Given the description of an element on the screen output the (x, y) to click on. 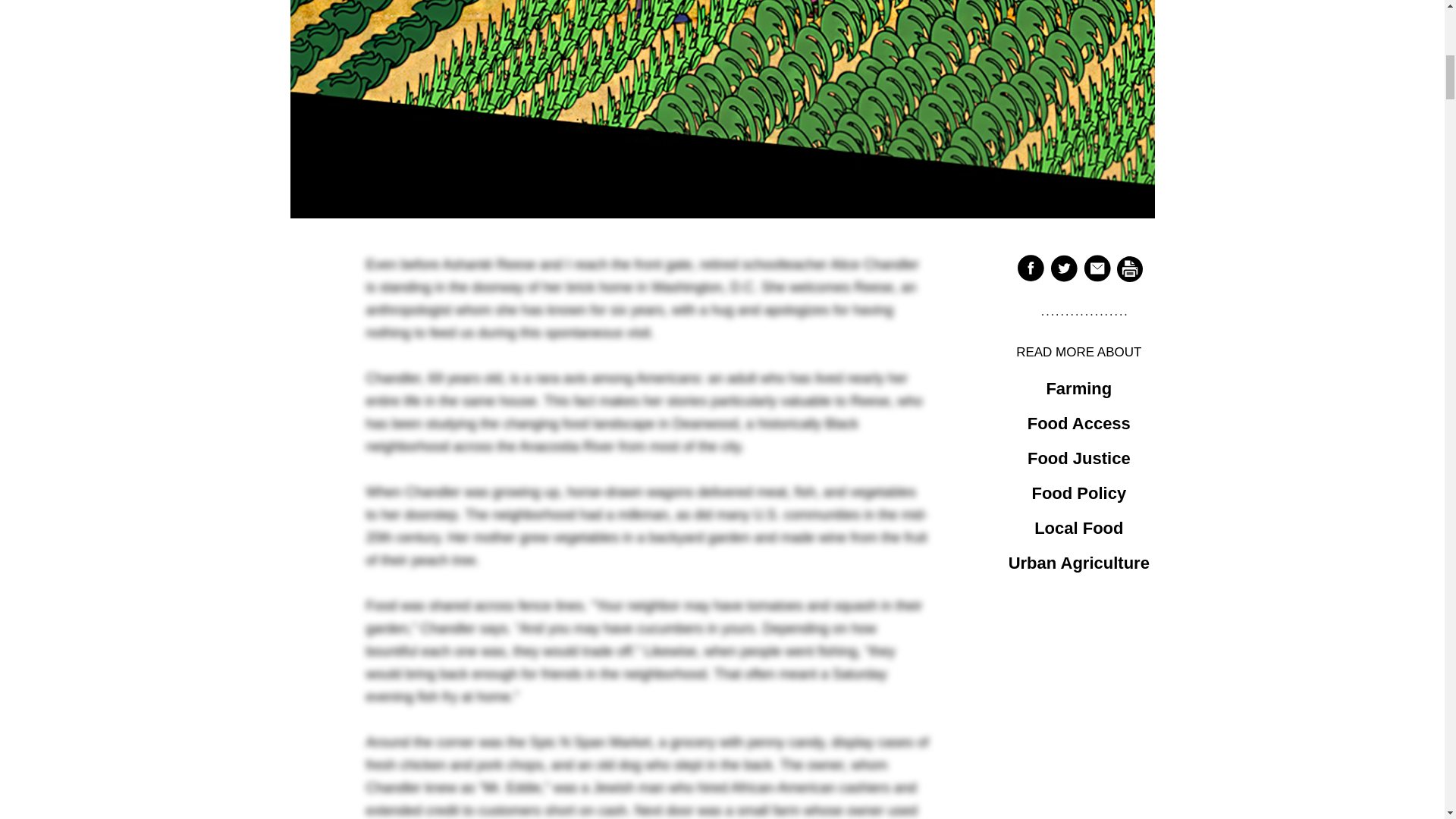
Email This (1096, 267)
Tweet This (1063, 267)
Share on Facebook (1029, 267)
